Given the description of an element on the screen output the (x, y) to click on. 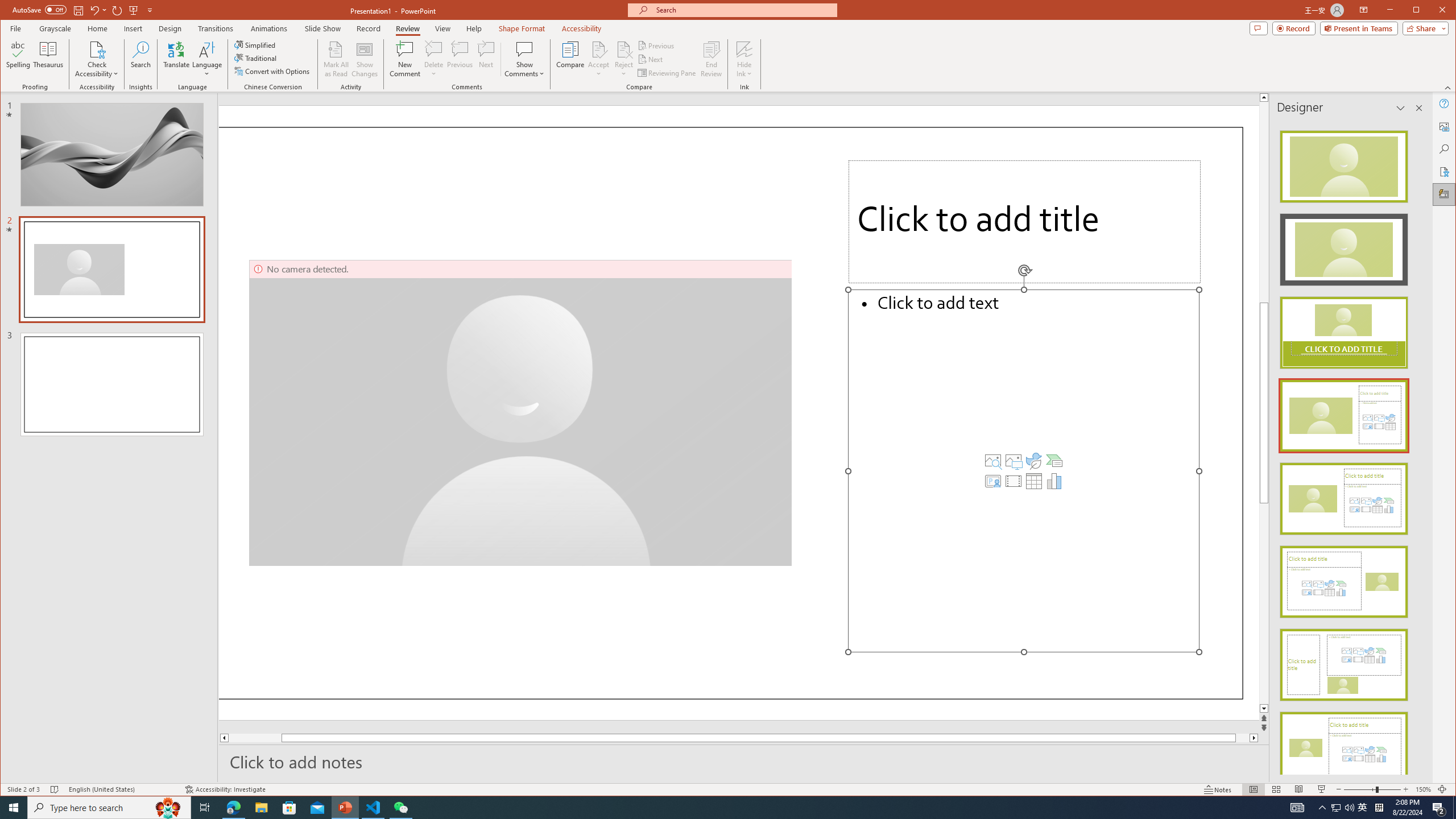
Decorative Locked (730, 412)
Reject (623, 59)
